Given the description of an element on the screen output the (x, y) to click on. 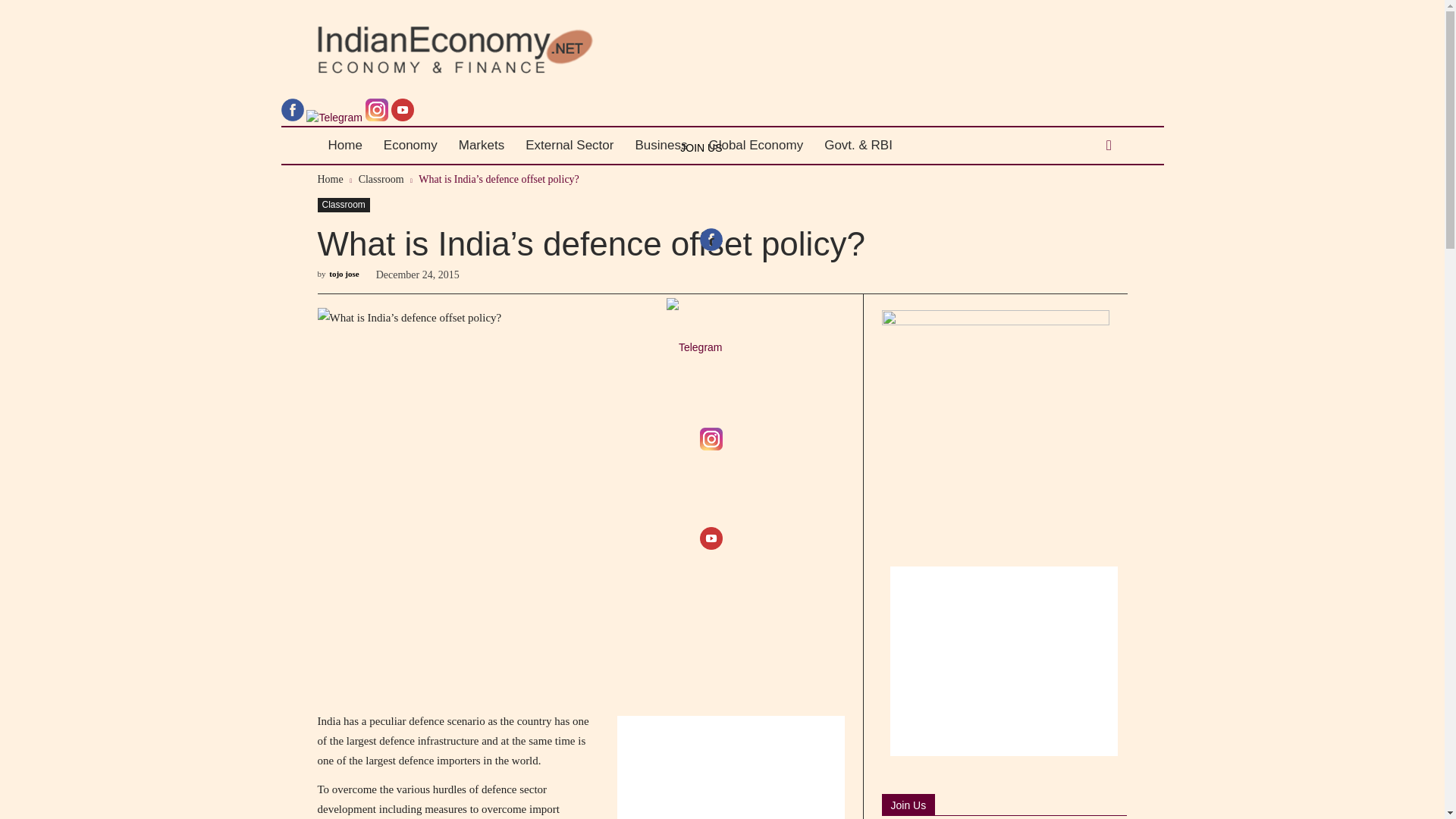
Indian Economy (519, 49)
Indian Economy (455, 49)
View all posts in Classroom (381, 179)
